Given the description of an element on the screen output the (x, y) to click on. 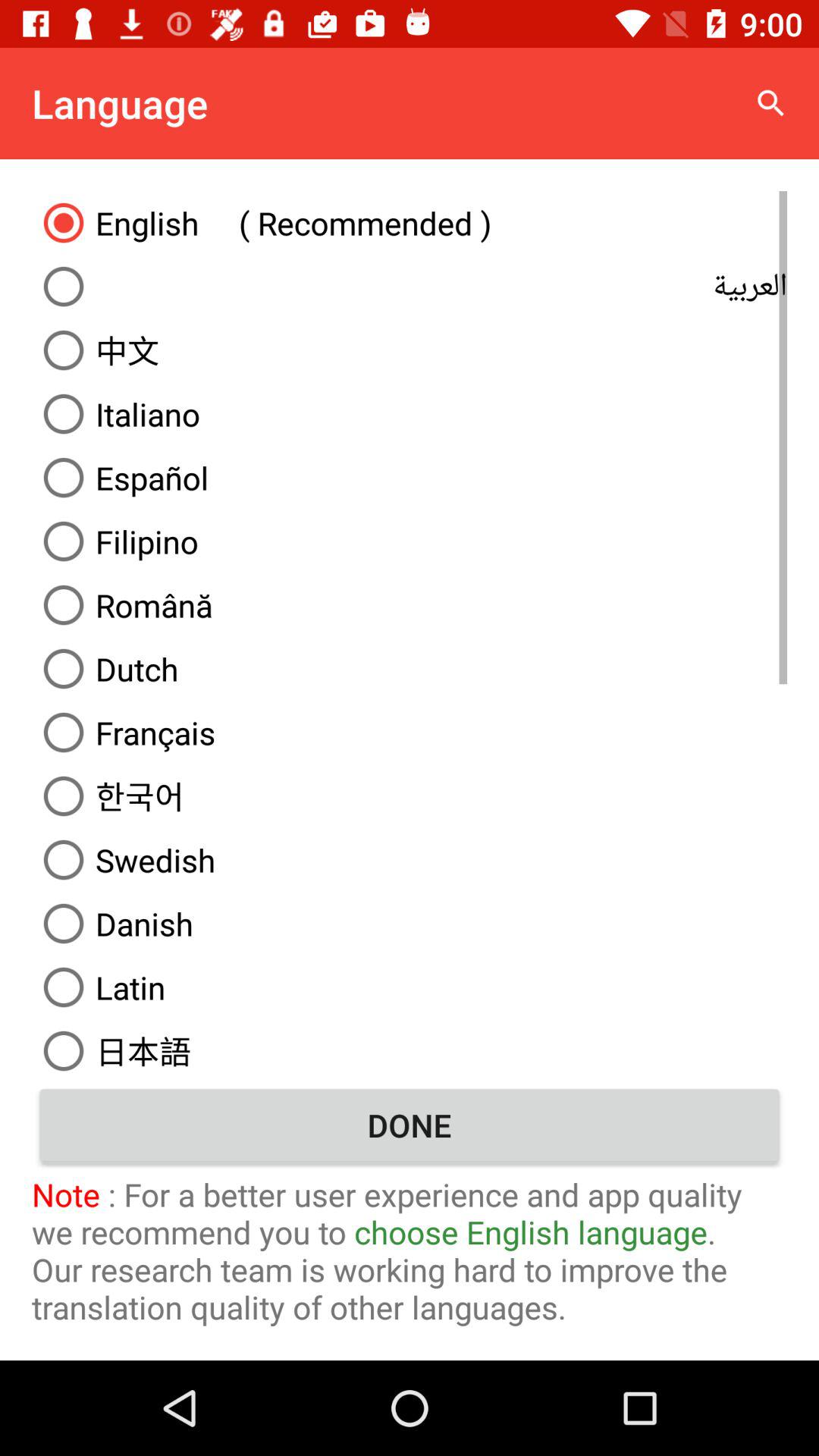
press item above the done icon (409, 1048)
